Given the description of an element on the screen output the (x, y) to click on. 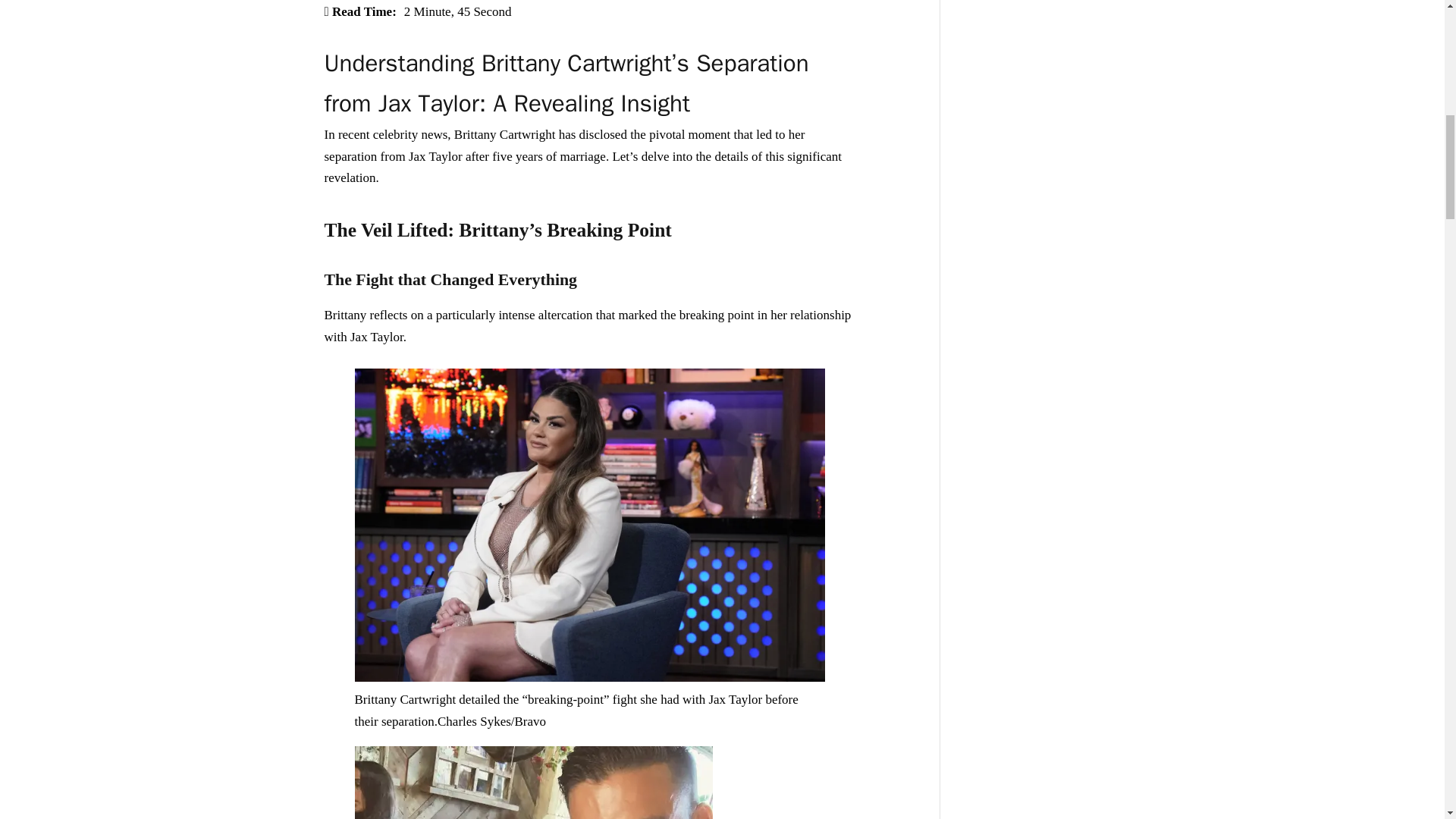
Open a slideshow of all 9 article images. (590, 677)
